Given the description of an element on the screen output the (x, y) to click on. 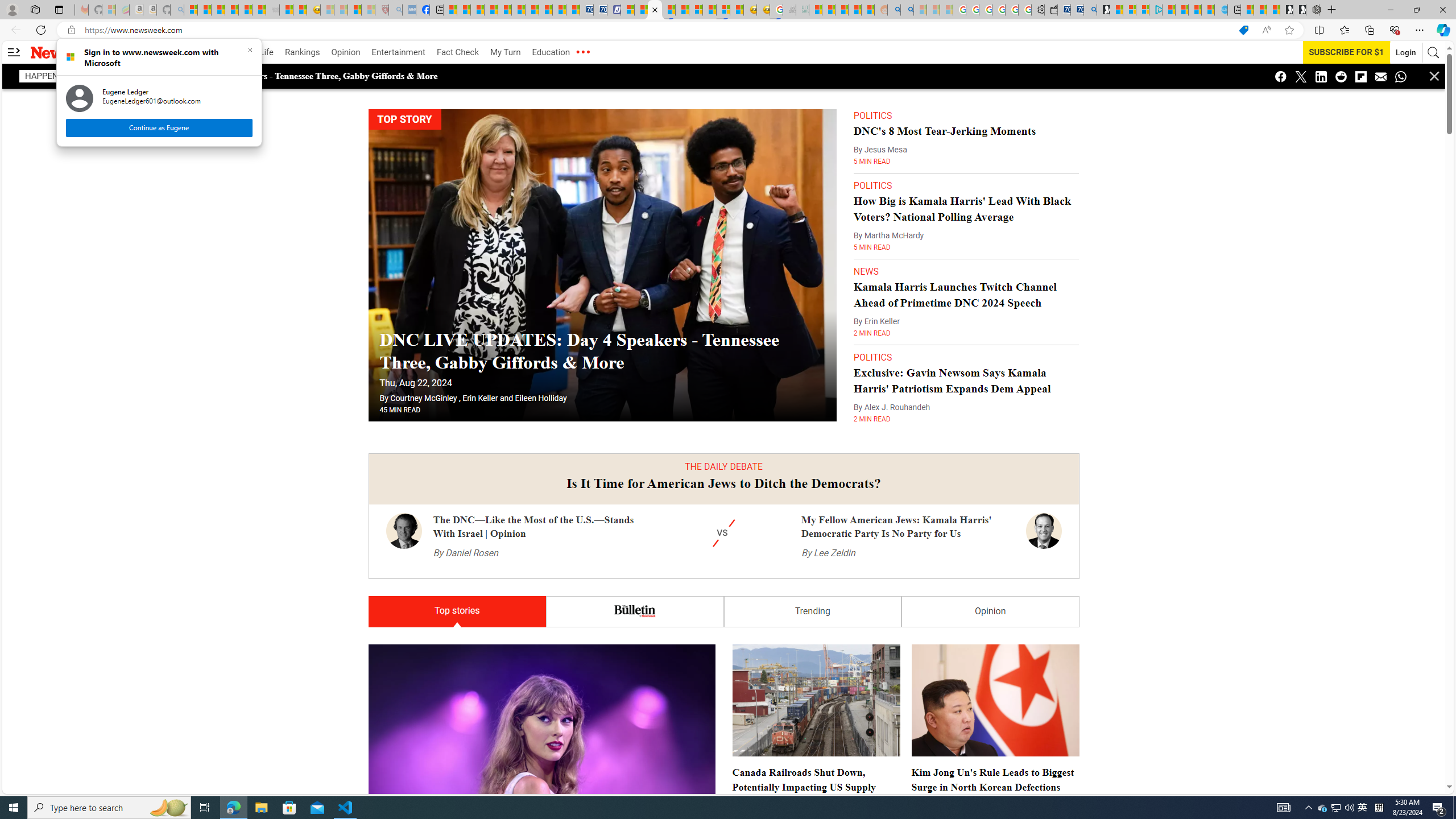
My Turn (505, 52)
Class: icon-facebook (1281, 75)
Login (1405, 51)
By Lee Zeldin (828, 552)
AutomationID: search-btn (1433, 51)
Newsweek - News, Analysis, Politics, Business, Technology (654, 9)
By Daniel Rosen (464, 552)
Subscribe to our service (1346, 52)
